Given the description of an element on the screen output the (x, y) to click on. 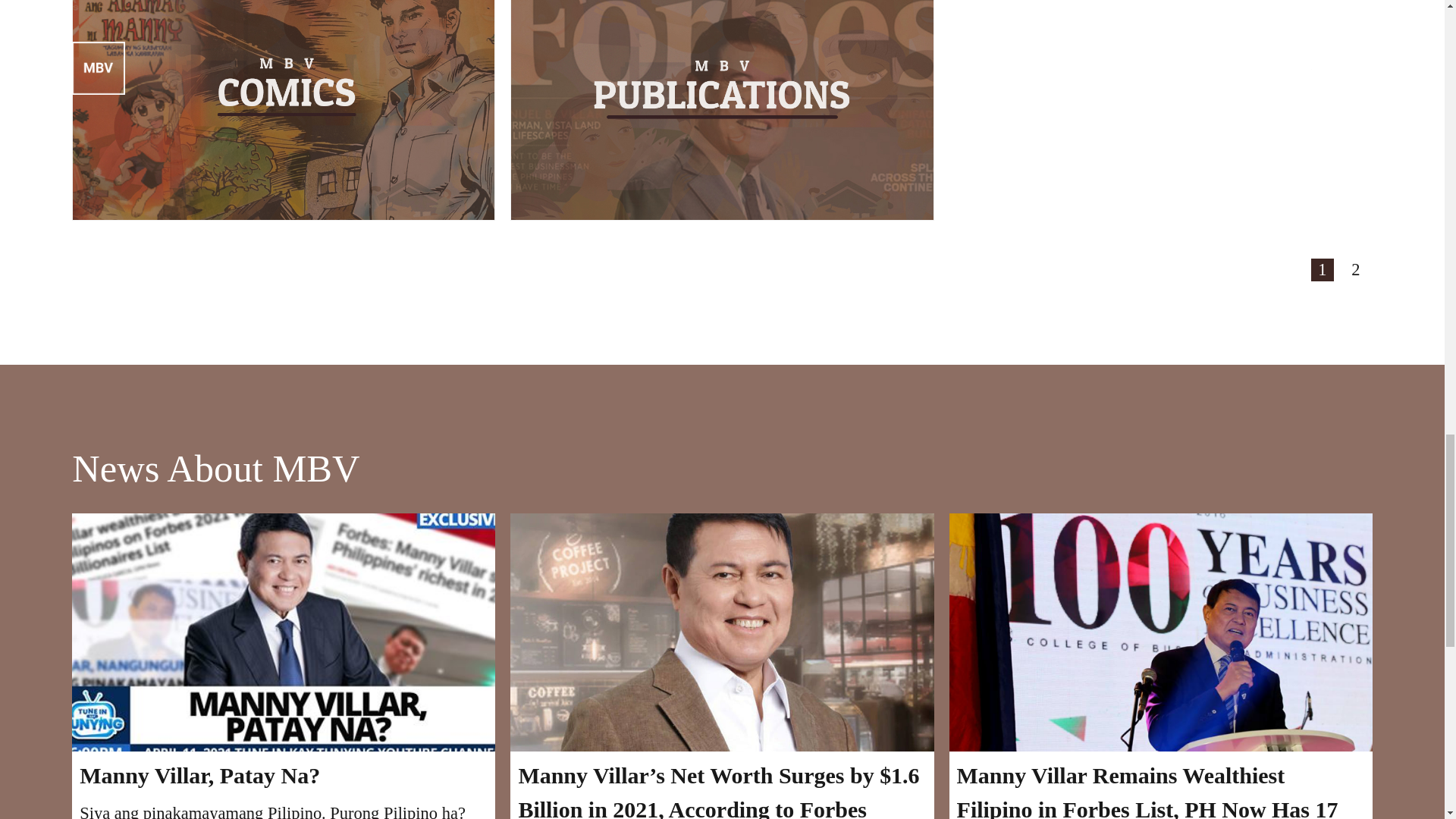
1 (1322, 269)
2 (1355, 269)
